Given the description of an element on the screen output the (x, y) to click on. 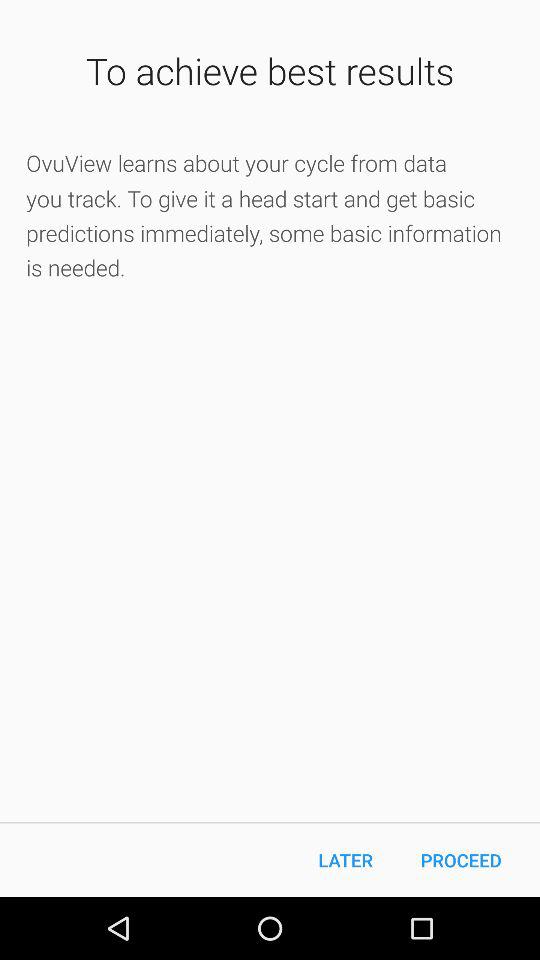
choose the icon to the right of later (461, 859)
